Given the description of an element on the screen output the (x, y) to click on. 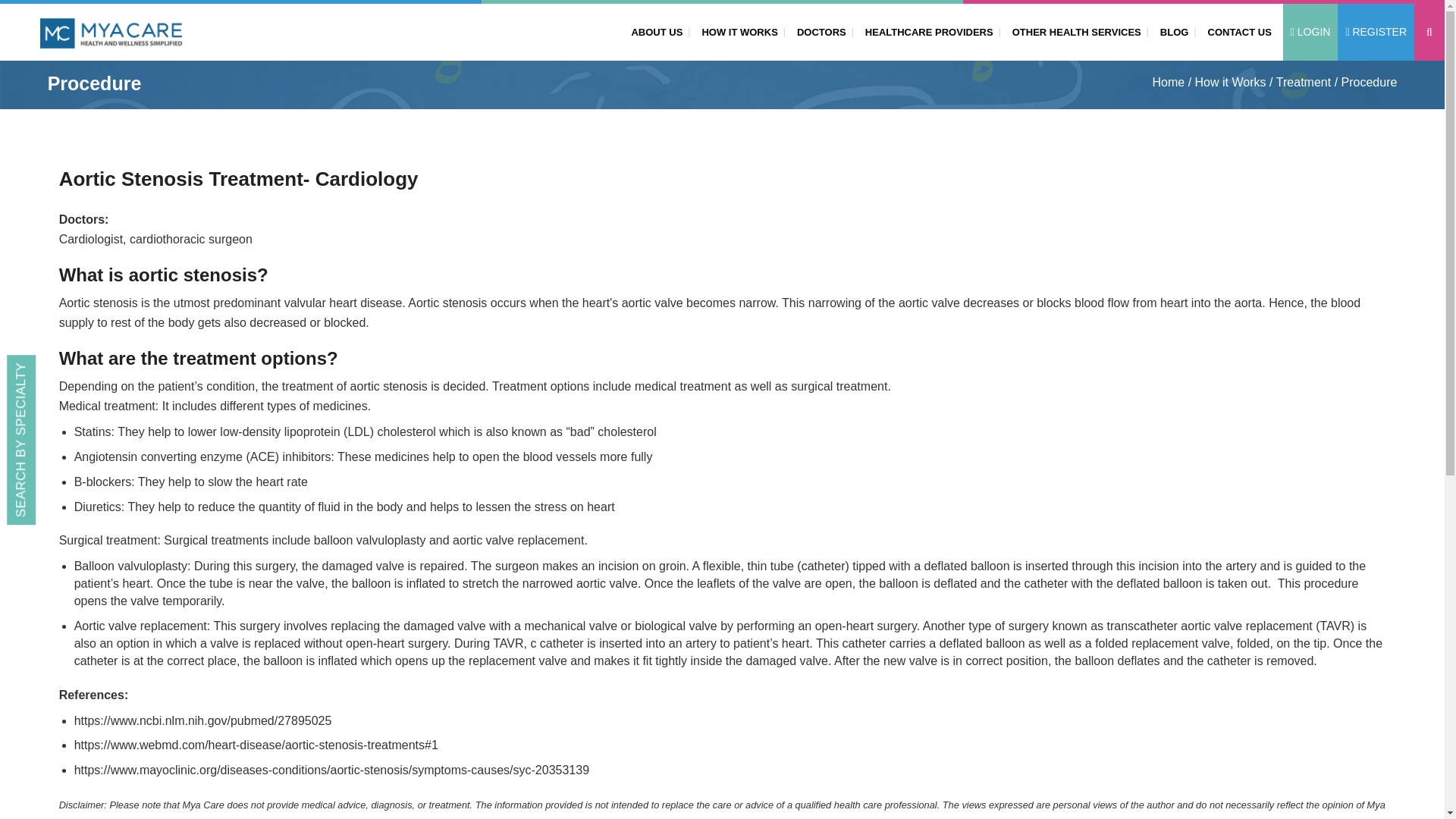
Home (1169, 82)
HEALTHCARE PROVIDERS (925, 31)
LOGIN (1310, 32)
HOW IT WORKS (736, 31)
CONTACT US (1236, 31)
ABOUT US (653, 31)
REGISTER (1375, 32)
Treatment (1303, 82)
DOCTORS (817, 31)
OTHER HEALTH SERVICES (1073, 31)
How it Works (1230, 82)
